Given the description of an element on the screen output the (x, y) to click on. 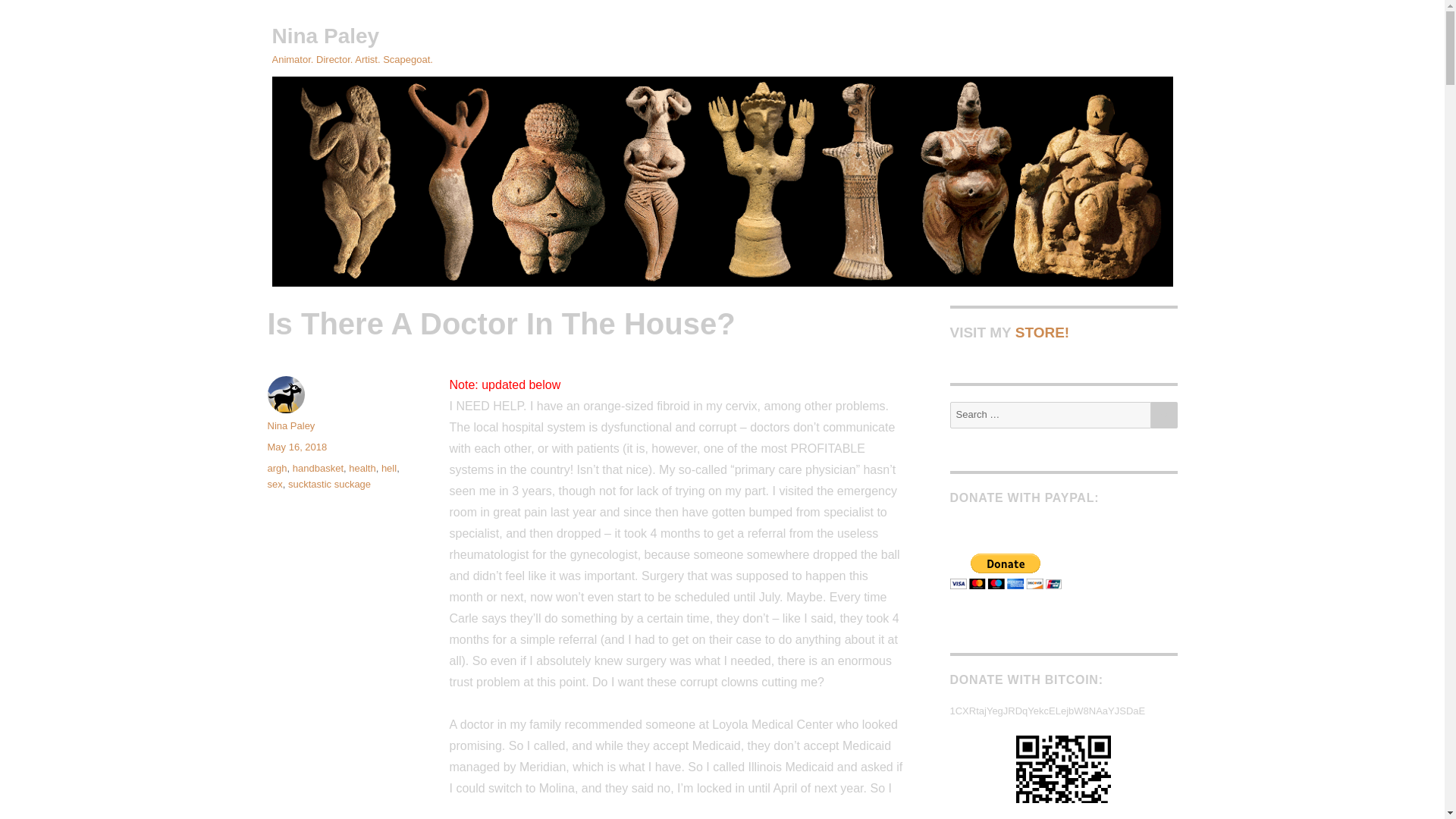
PayPal - The safer, easier way to pay online! (1005, 570)
sucktastic suckage (329, 483)
handbasket (317, 468)
argh (276, 468)
sex (274, 483)
hell (388, 468)
Nina Paley (324, 35)
health (362, 468)
Nina Paley (290, 425)
May 16, 2018 (296, 446)
